Given the description of an element on the screen output the (x, y) to click on. 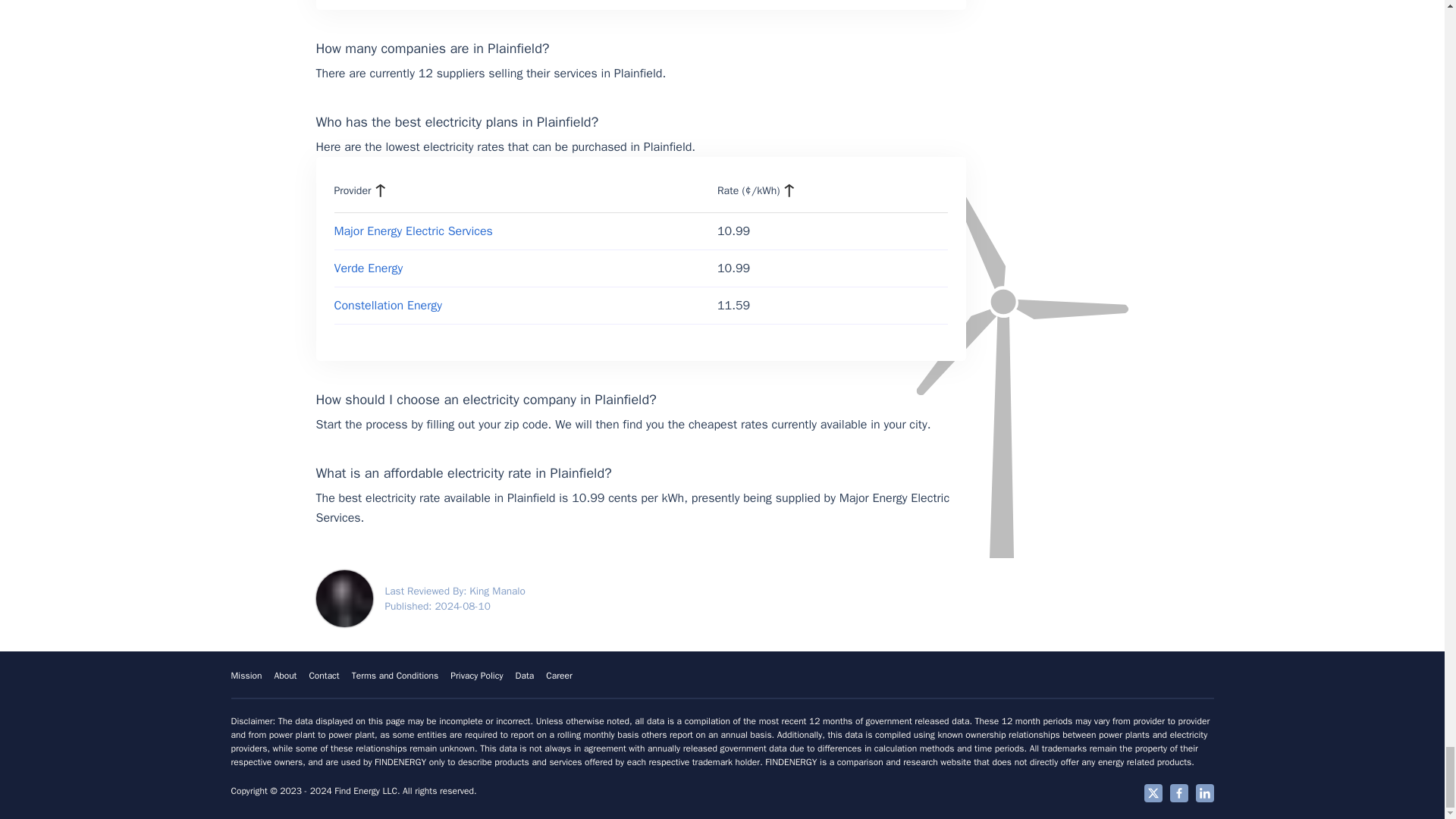
Follow us on X (1151, 792)
Follow us on Facebook (1178, 792)
Follow us on Linkedin (1203, 792)
